Given the description of an element on the screen output the (x, y) to click on. 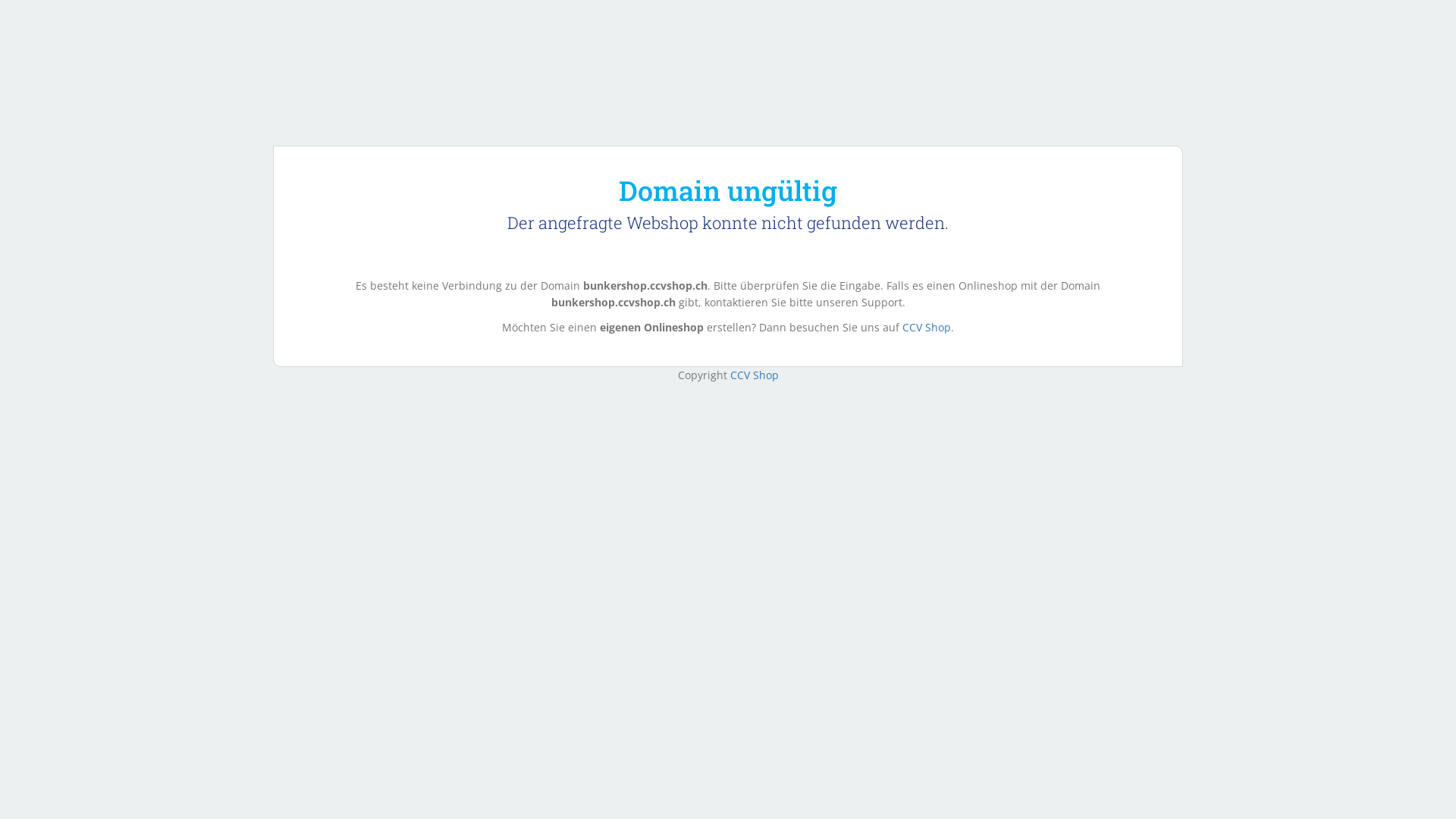
CCV Shop Element type: text (753, 374)
CCV Shop Element type: text (926, 327)
